Given the description of an element on the screen output the (x, y) to click on. 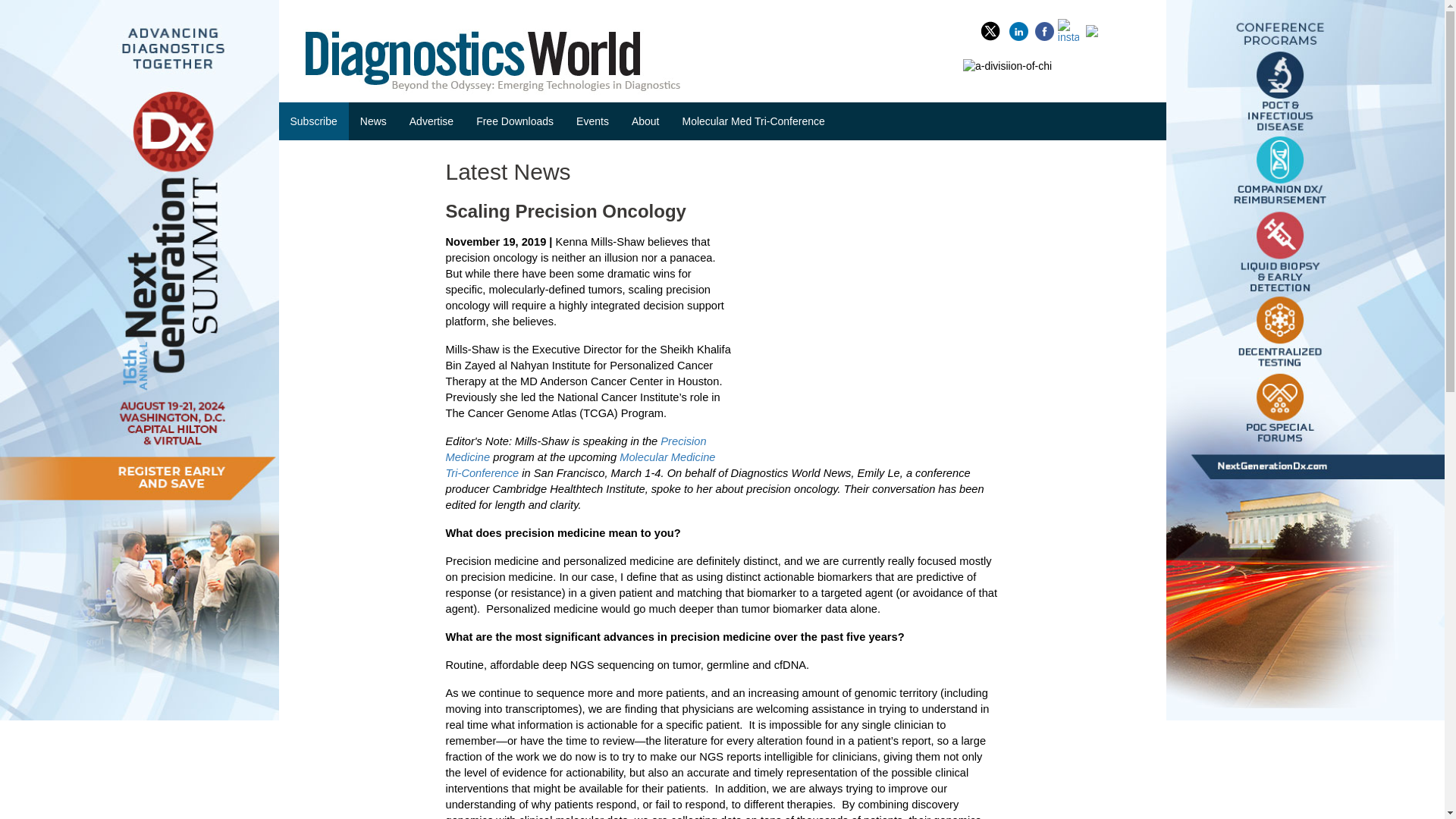
Facebook (1046, 28)
Molecular Med Tri-Conference (752, 121)
Advertise (430, 121)
Facebook (1046, 29)
News (373, 121)
RSS (1105, 28)
Events (592, 121)
Free Downloads (514, 121)
Diagnostics-World (496, 58)
Twitter (989, 28)
